Given the description of an element on the screen output the (x, y) to click on. 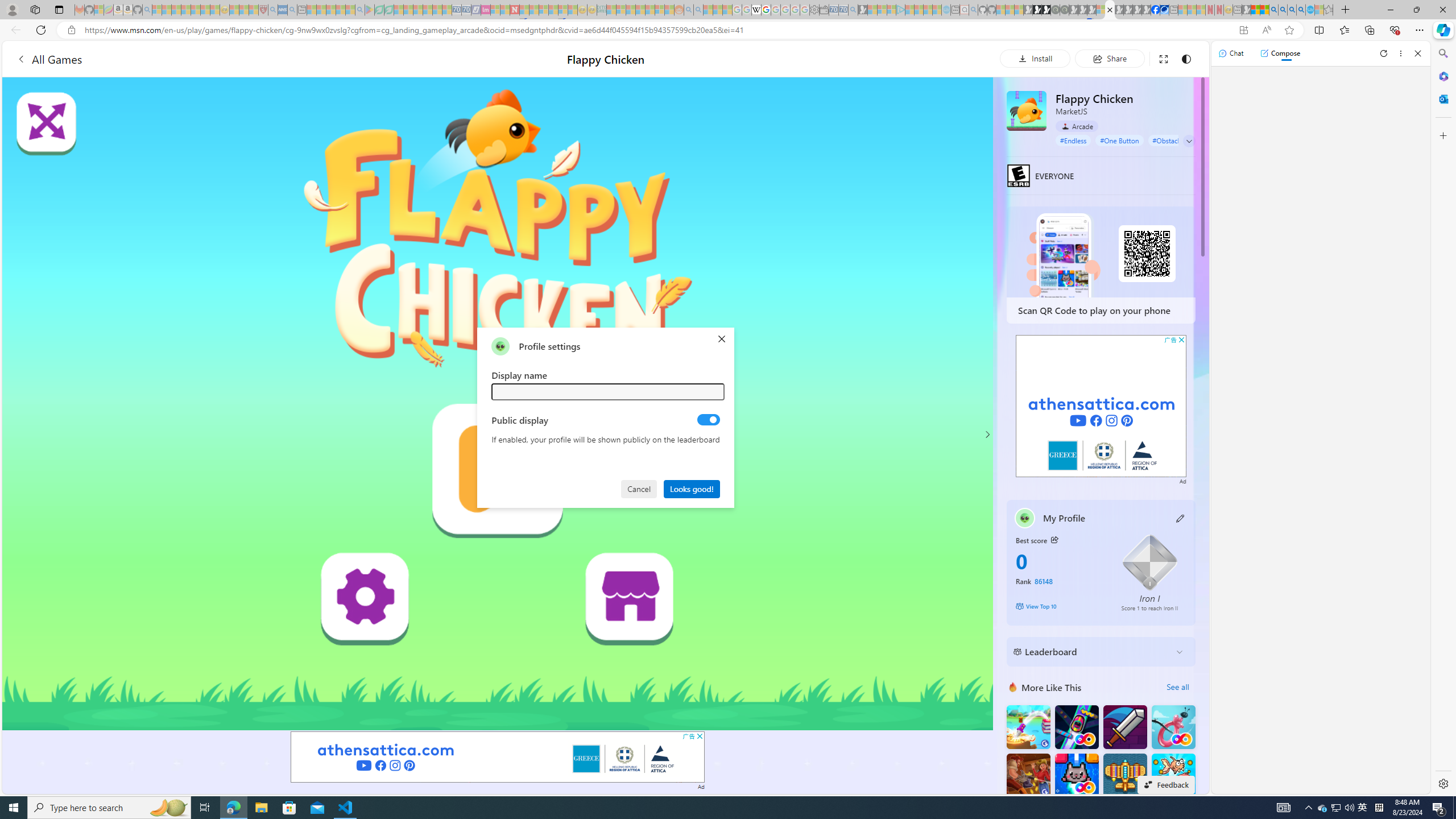
Change to dark mode (1185, 58)
Class: button edit-icon (1180, 517)
google - Search - Sleeping (359, 9)
Favorites - Sleeping (1328, 9)
Google Chrome Internet Browser Download - Search Images (1300, 9)
Advertisement (1101, 405)
github - Search - Sleeping (972, 9)
